Given the description of an element on the screen output the (x, y) to click on. 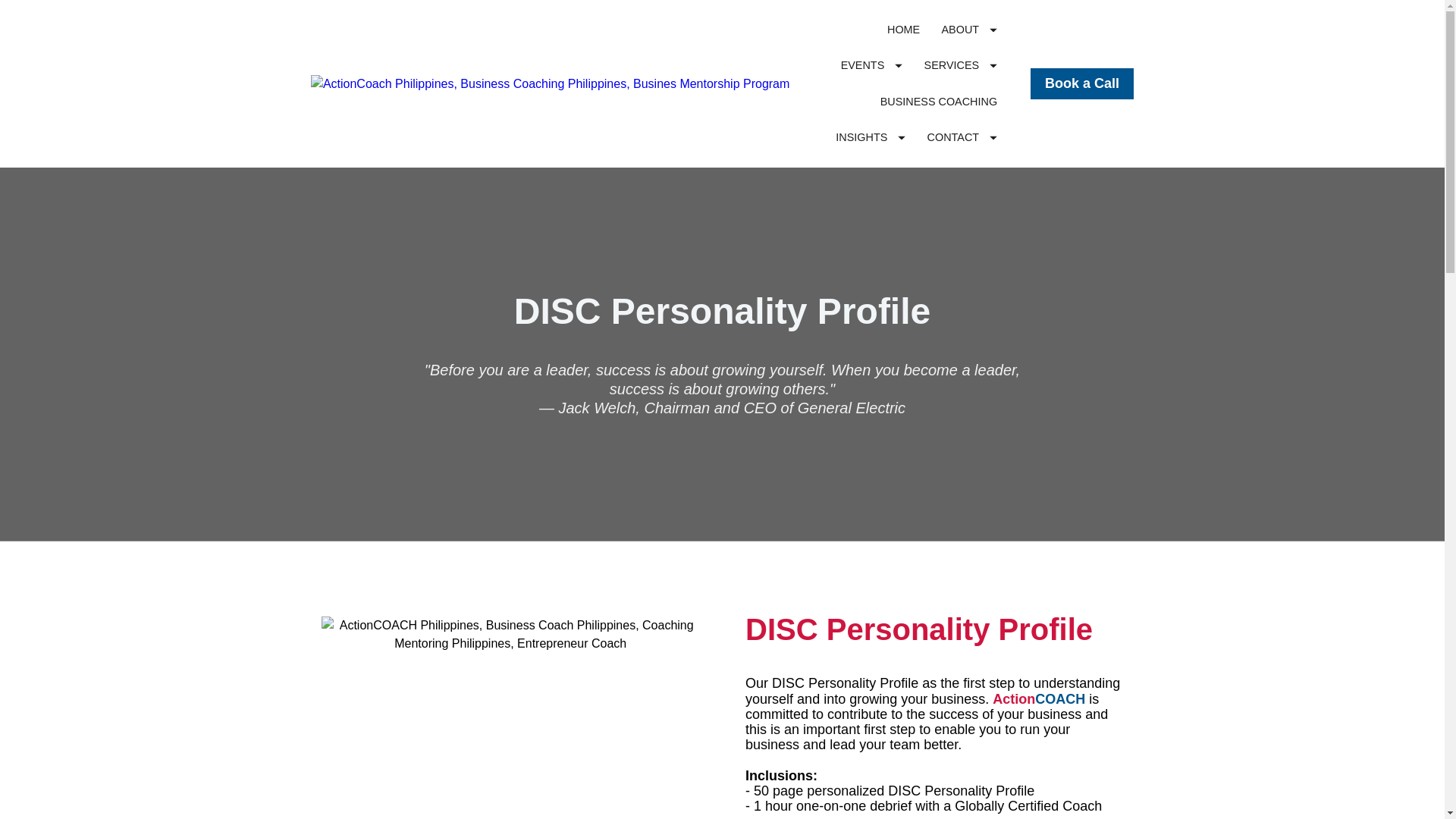
ABOUT (969, 29)
CONTACT (962, 137)
Book a Call (1082, 83)
BUSINESS COACHING (938, 101)
HOME (903, 29)
EVENTS (871, 65)
INSIGHTS (870, 137)
SERVICES (960, 65)
